Given the description of an element on the screen output the (x, y) to click on. 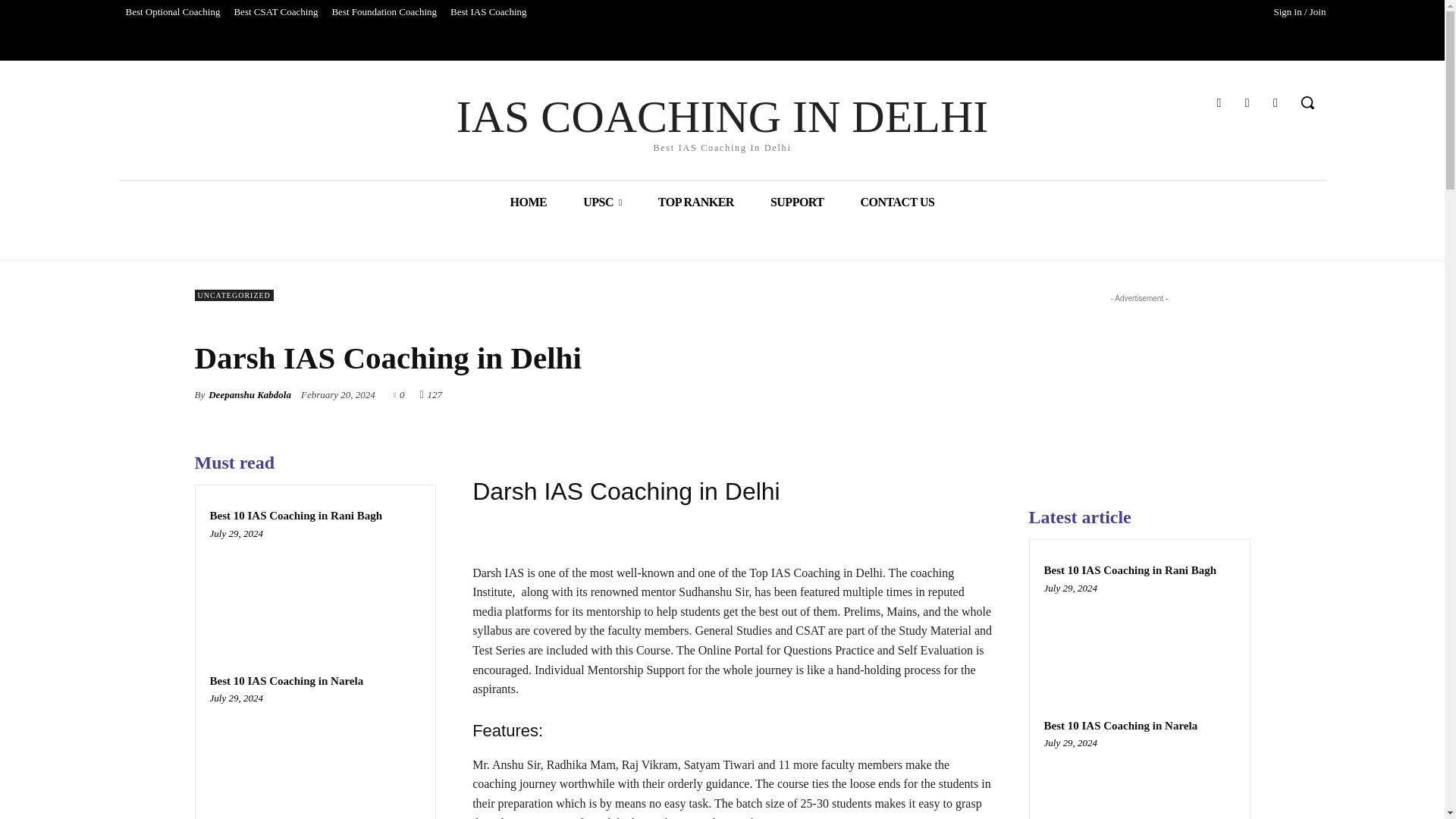
Facebook (1218, 102)
SUPPORT (797, 201)
Best CSAT Coaching (275, 12)
Best Foundation Coaching (384, 12)
Youtube (1275, 102)
HOME (528, 201)
Best IAS Coaching (488, 12)
Twitter (1246, 102)
best ias coaching in delhi (721, 121)
Best Optional Coaching (172, 12)
UPSC (602, 201)
CONTACT US (721, 121)
TOP RANKER (898, 201)
